Given the description of an element on the screen output the (x, y) to click on. 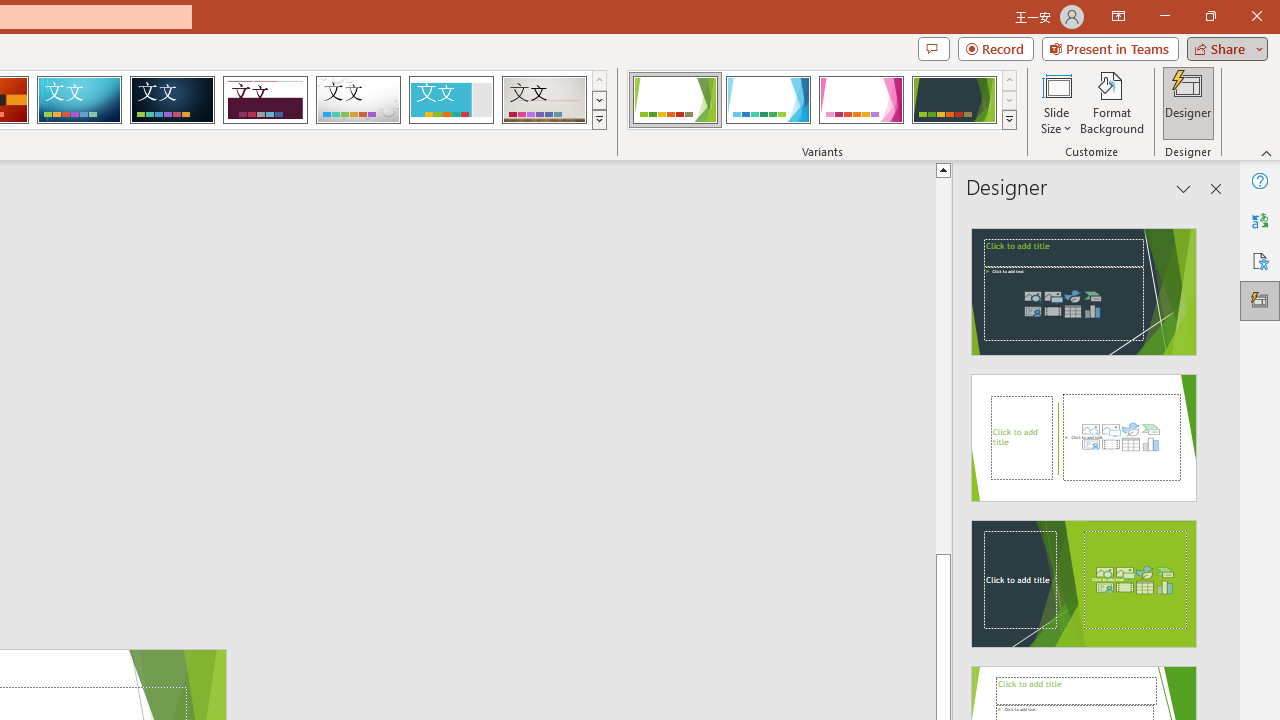
Facet Variant 1 (674, 100)
Circuit (79, 100)
Damask (171, 100)
